Given the description of an element on the screen output the (x, y) to click on. 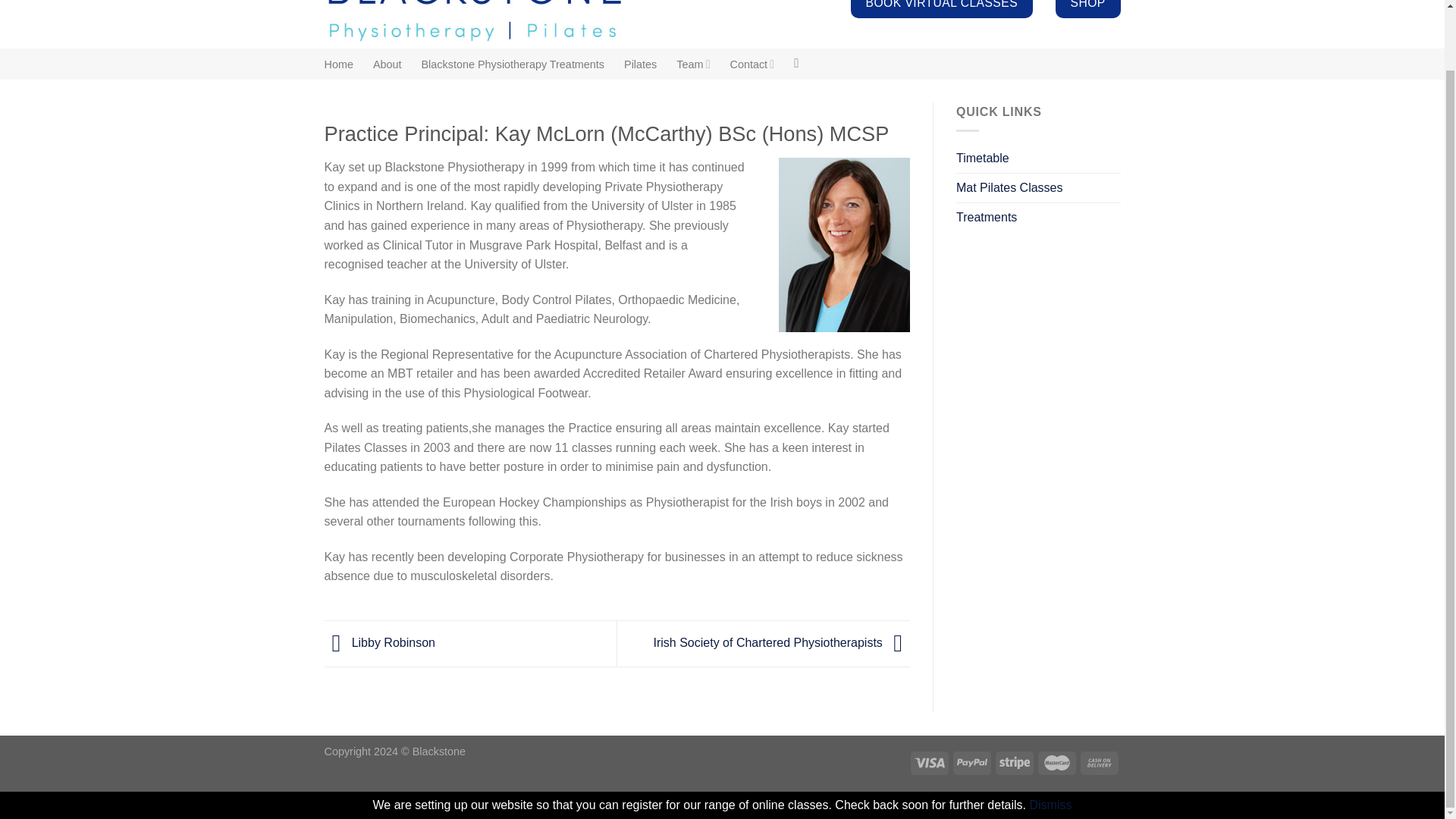
Pilates (640, 63)
Treatments (986, 217)
Home (338, 63)
SHOP (1088, 9)
Contact (752, 63)
Libby Robinson (379, 642)
Team (693, 63)
Blackstone Physiotherapy Treatments (513, 63)
BOOK VIRTUAL CLASSES (941, 9)
Timetable (982, 158)
